Given the description of an element on the screen output the (x, y) to click on. 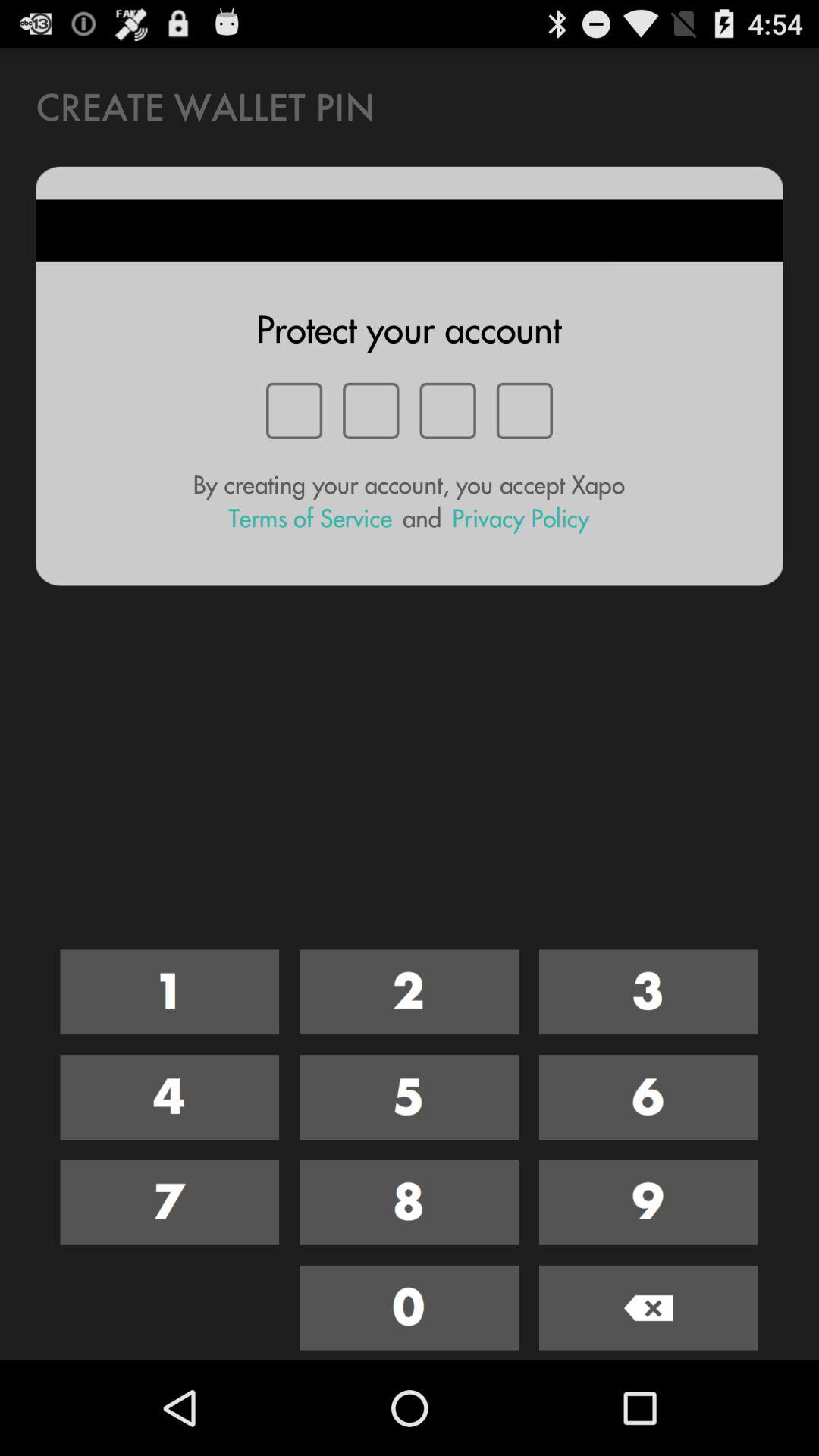
number three (648, 991)
